Given the description of an element on the screen output the (x, y) to click on. 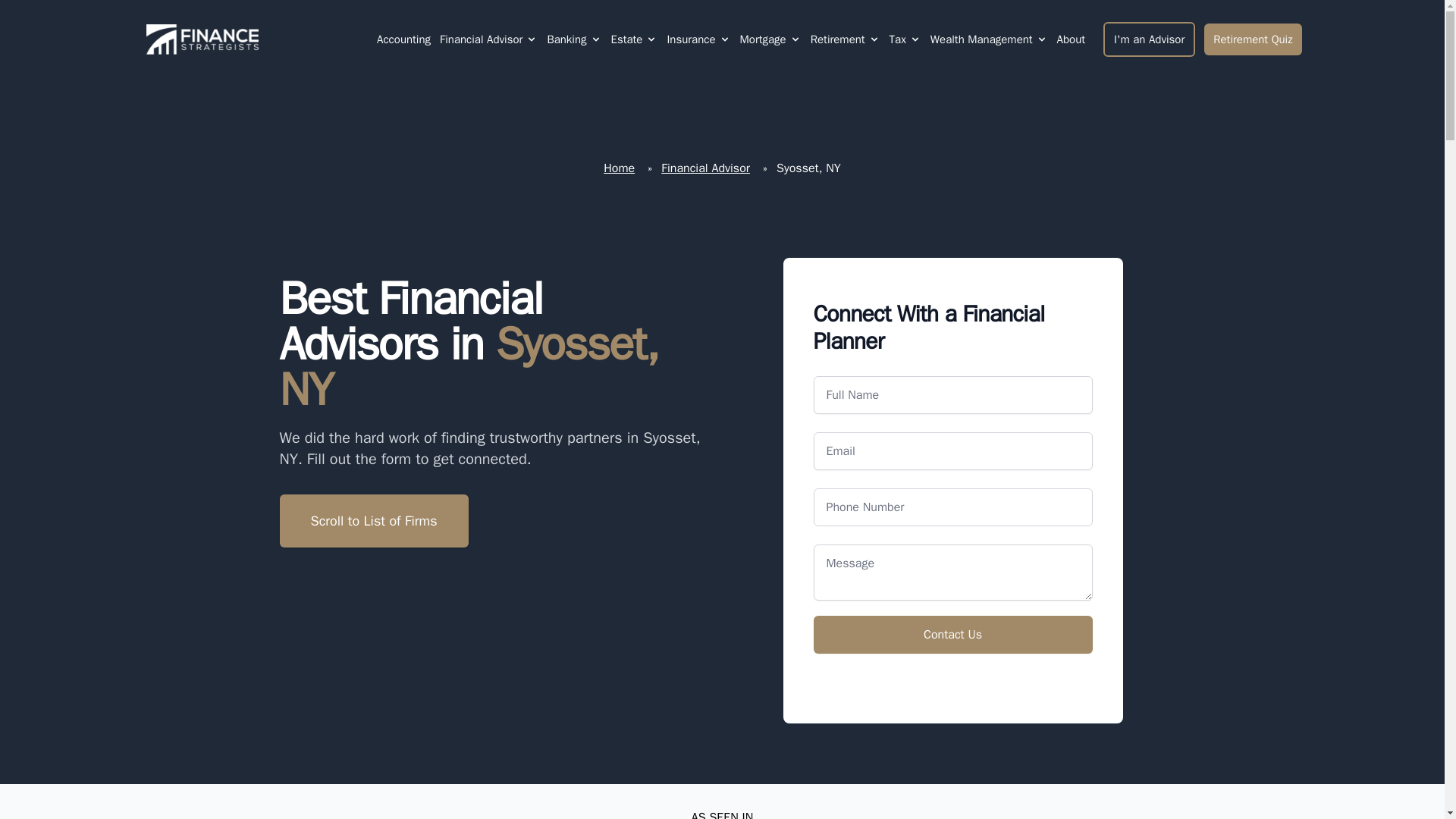
Accounting (403, 39)
Banking (566, 39)
Financial Advisor (480, 39)
Finance Strategists (199, 39)
Accounting (403, 39)
Financial Advisor (488, 39)
Banking (573, 39)
